Given the description of an element on the screen output the (x, y) to click on. 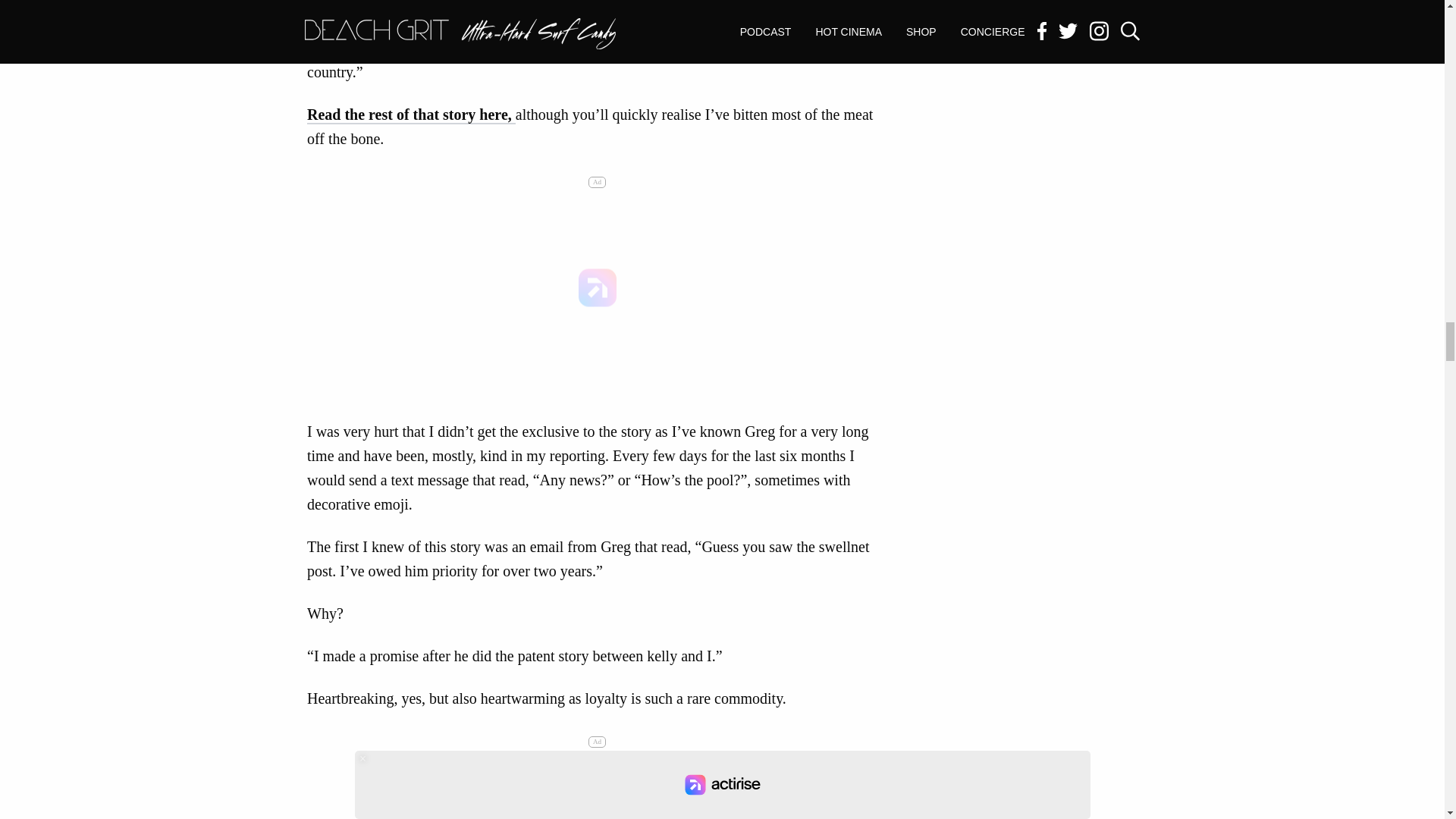
Read the rest of that story here, (411, 115)
